Given the description of an element on the screen output the (x, y) to click on. 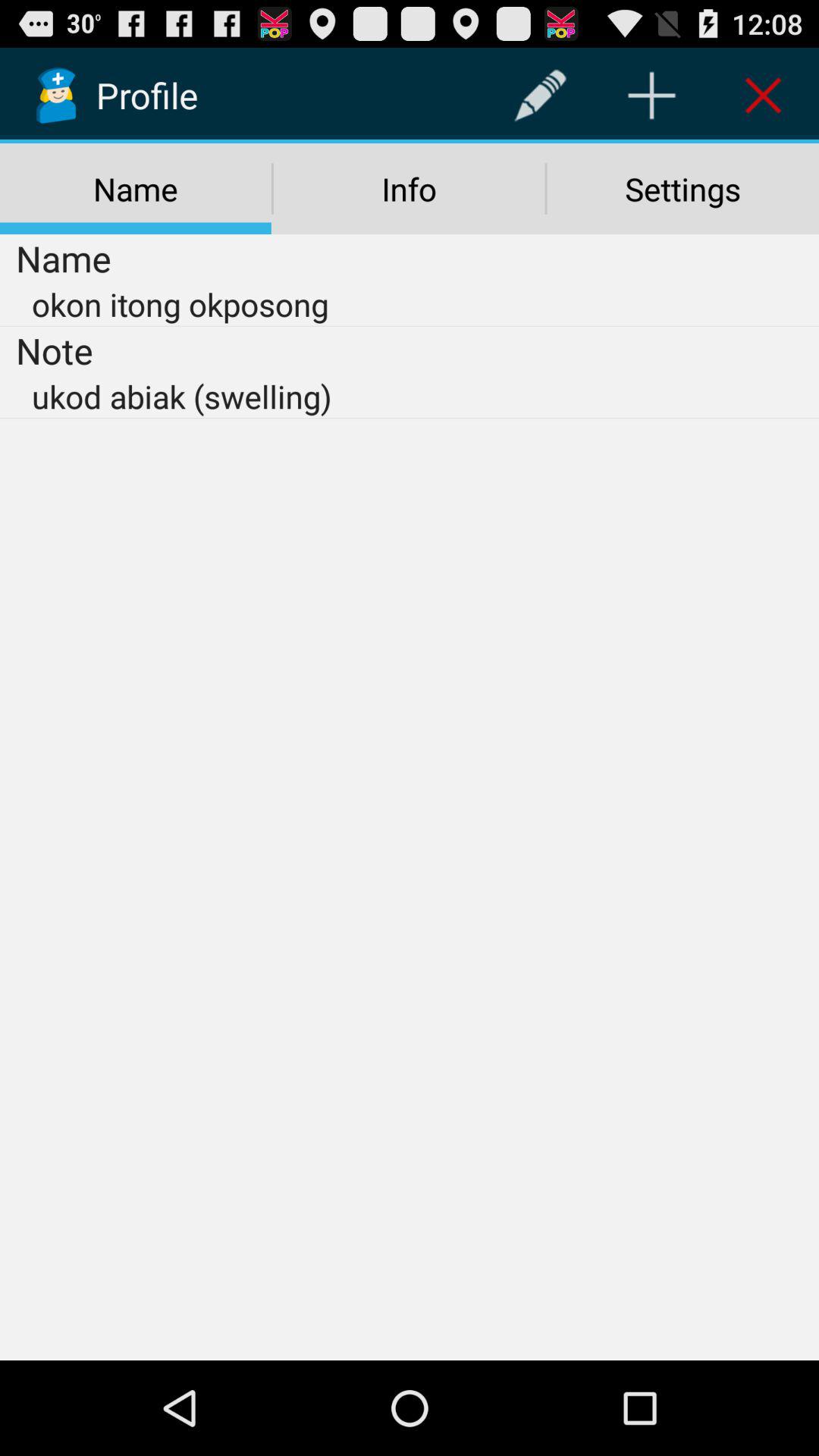
tap item next to the settings (408, 188)
